Given the description of an element on the screen output the (x, y) to click on. 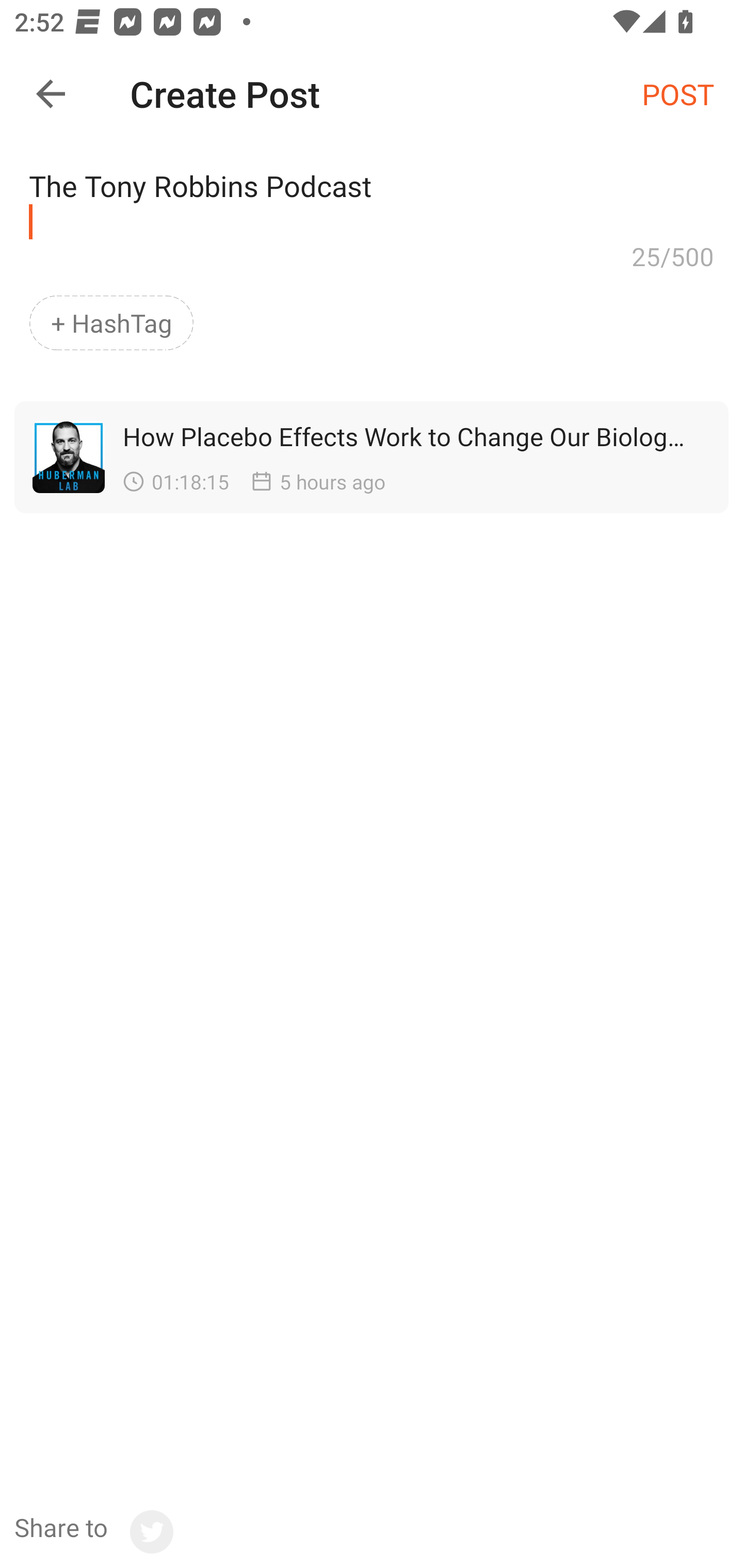
Navigate up (50, 93)
POST (677, 92)
The Tony Robbins Podcast
 (371, 191)
+ HashTag (110, 322)
Share to (93, 1531)
